Given the description of an element on the screen output the (x, y) to click on. 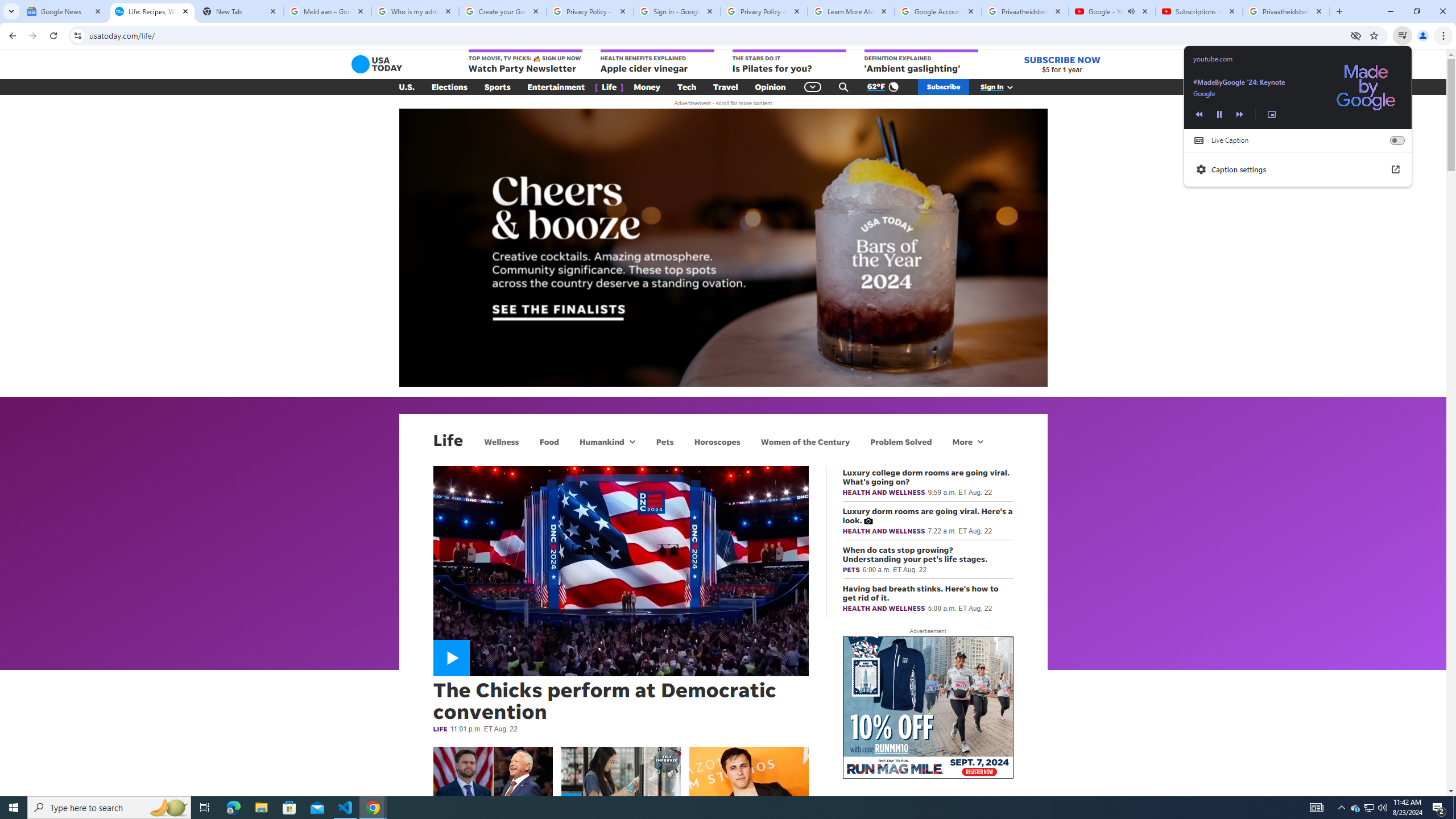
Opinion (770, 87)
Global Navigation (812, 87)
Third-party cookies blocked (1355, 35)
Who is my administrator? - Google Account Help (415, 11)
File Explorer (261, 807)
Subscriptions - YouTube (1198, 11)
Visual Studio Code - 1 running window (345, 807)
Microsoft Store (289, 807)
Forward (32, 35)
Search (843, 87)
Bookmark this tab (1373, 35)
Google - YouTube - Audio playing (1111, 11)
USA TODAY (376, 64)
Sign in - Google Accounts (676, 11)
